Given the description of an element on the screen output the (x, y) to click on. 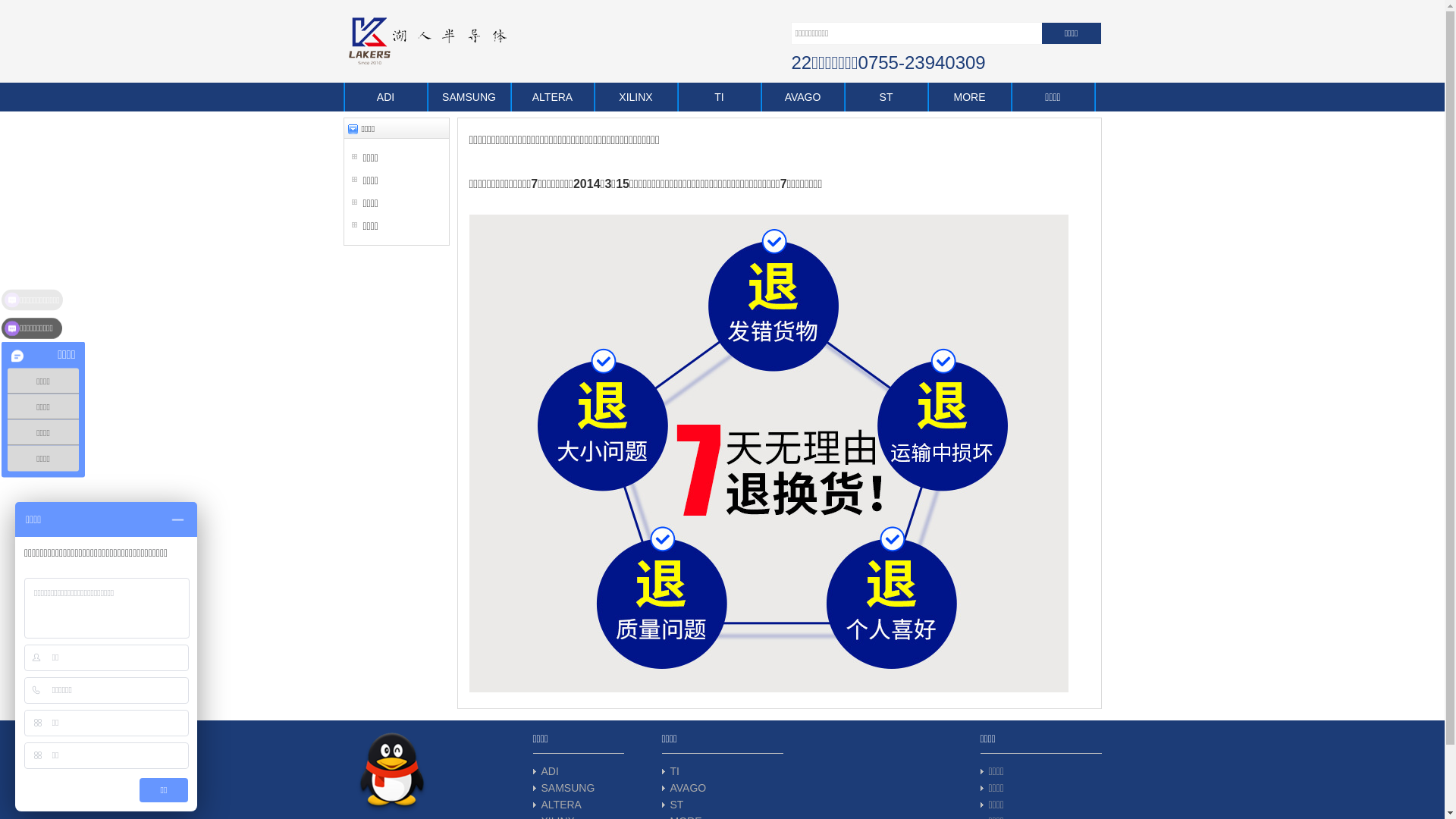
ST Element type: text (886, 96)
AVAGO Element type: text (688, 787)
MORE Element type: text (969, 96)
TI Element type: text (719, 96)
ADI Element type: text (549, 771)
ALTERA Element type: text (552, 96)
AVAGO Element type: text (802, 96)
SAMSUNG Element type: text (469, 96)
SAMSUNG Element type: text (568, 787)
ADI Element type: text (385, 96)
TI Element type: text (674, 771)
ALTERA Element type: text (561, 804)
XILINX Element type: text (635, 96)
ST Element type: text (677, 804)
